Given the description of an element on the screen output the (x, y) to click on. 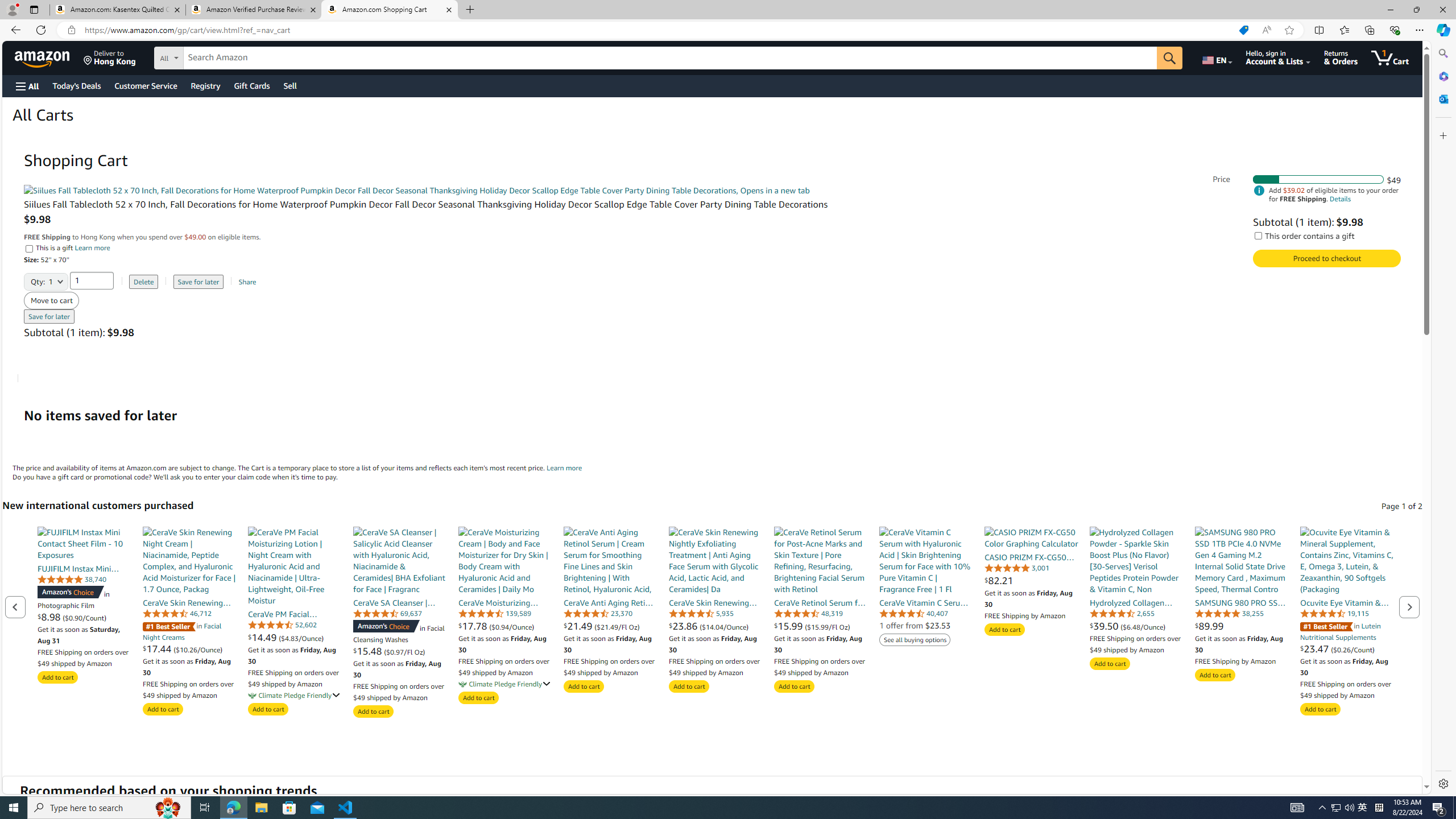
See all buying options (914, 639)
1 item in cart (1389, 57)
($4.83/Ounce) (301, 637)
Next page (1409, 606)
1 offer from $23.53 (914, 624)
Today's Deals (76, 85)
